Given the description of an element on the screen output the (x, y) to click on. 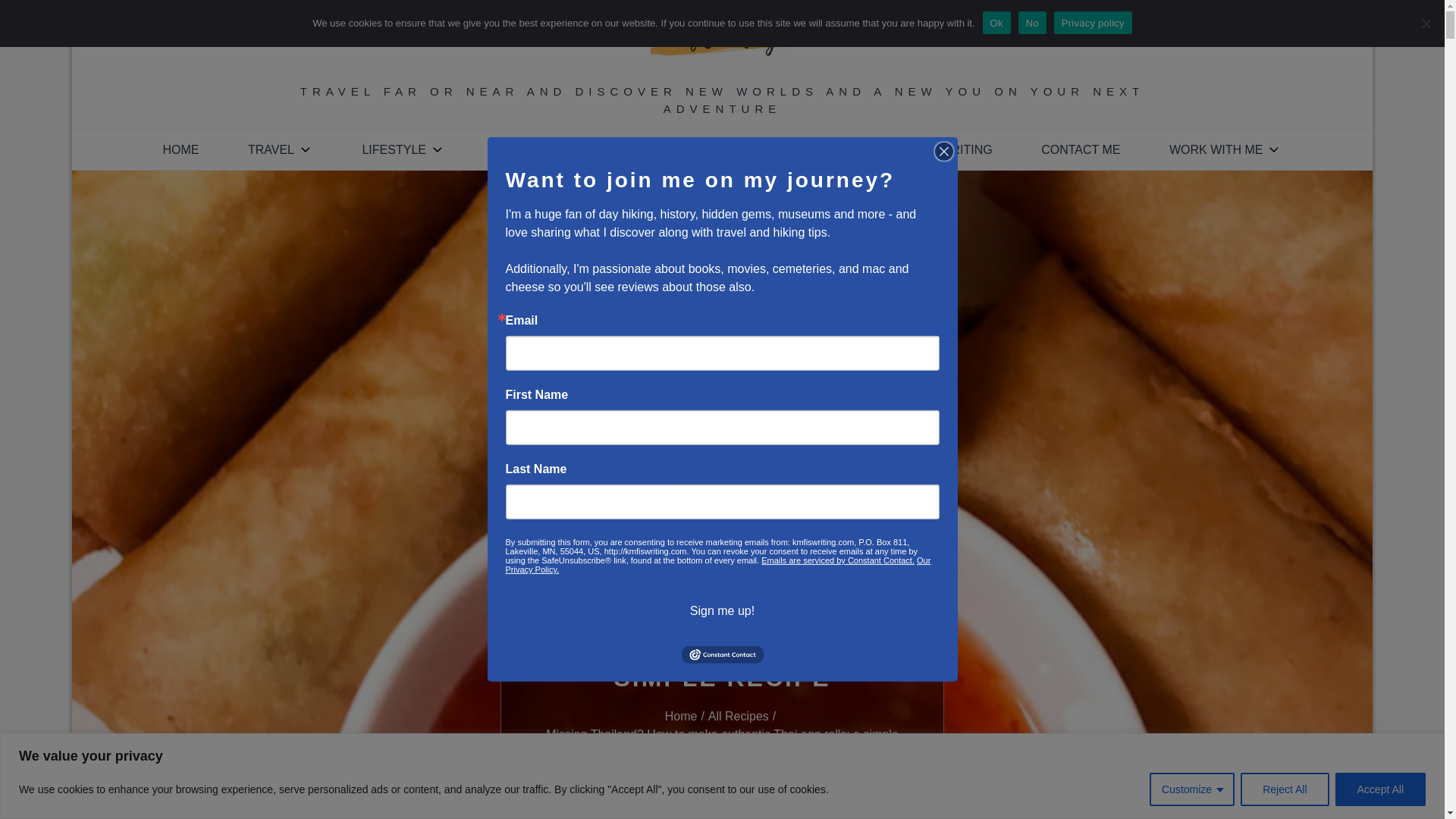
Customize (1192, 788)
TRAVEL (280, 149)
HOME (180, 149)
